Given the description of an element on the screen output the (x, y) to click on. 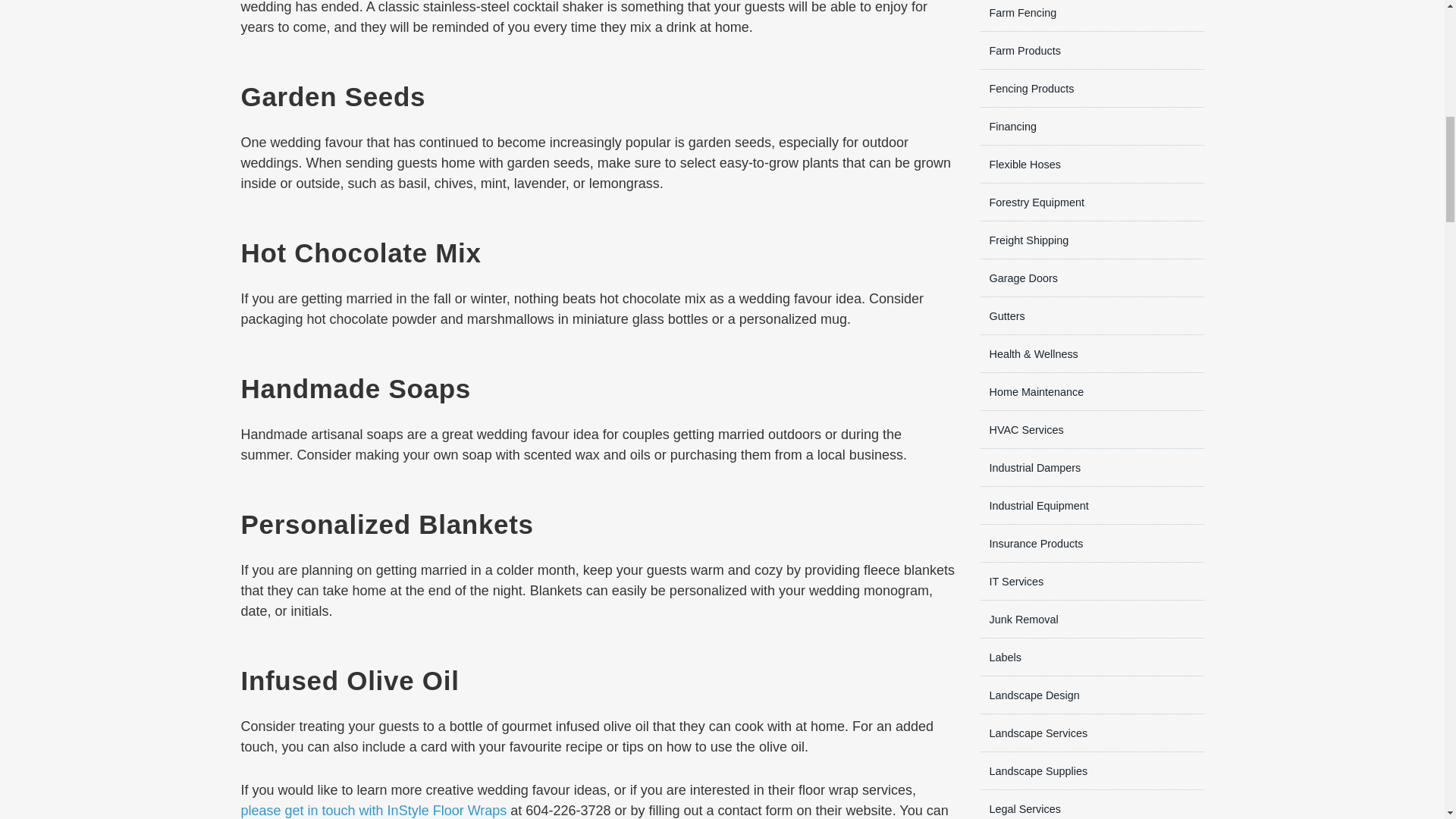
please get in touch with InStyle Floor Wraps (373, 810)
Farm Products (1019, 50)
Freight Shipping (1023, 240)
Financing (1007, 126)
Garage Doors (1018, 277)
Fencing Products (1026, 88)
Flexible Hoses (1019, 164)
Forestry Equipment (1031, 202)
Gutters (1002, 316)
Farm Fencing (1018, 12)
